Given the description of an element on the screen output the (x, y) to click on. 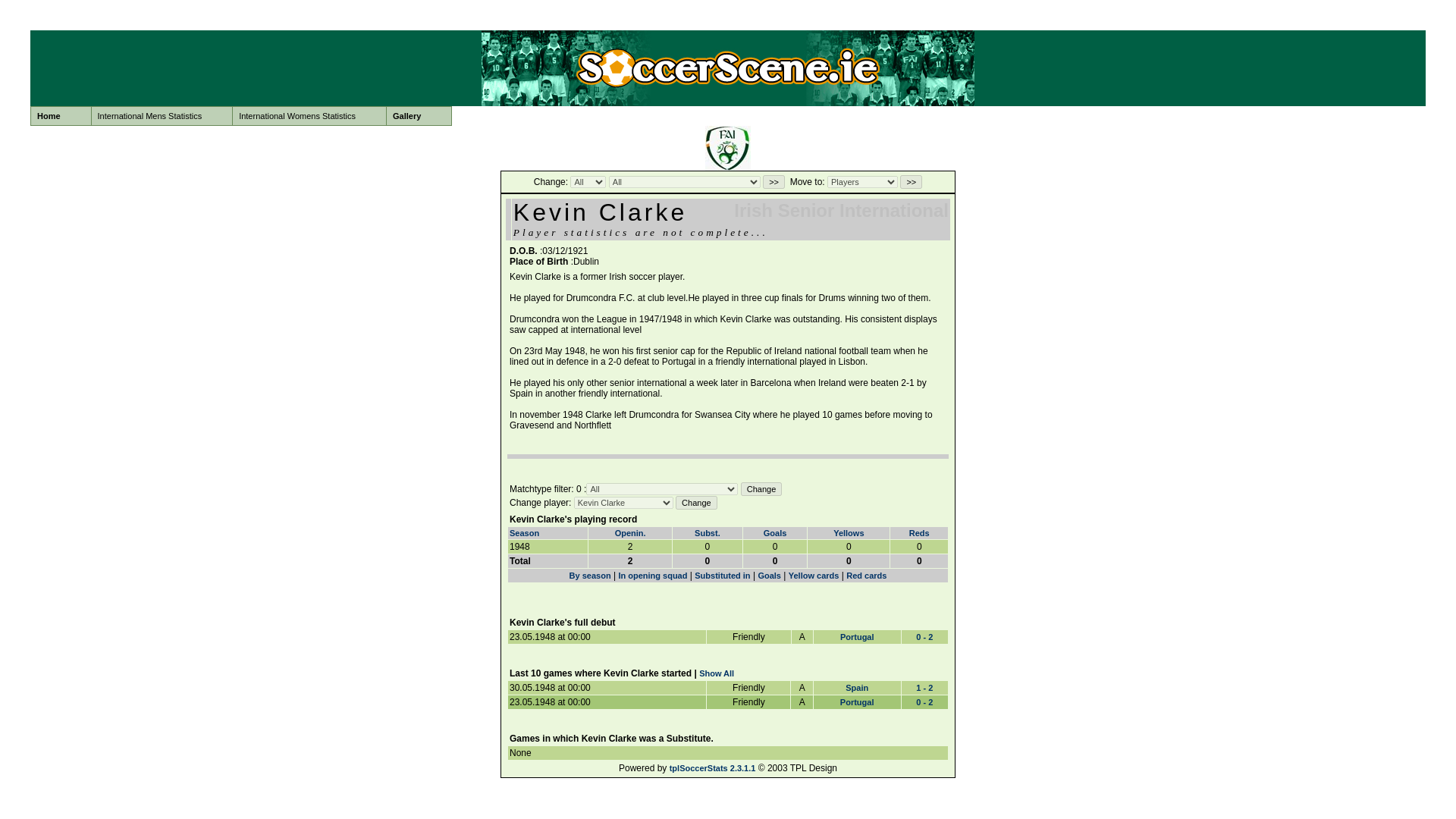
International Womens Statistics (309, 116)
Change (762, 489)
Change (696, 502)
International Mens Statistics (161, 116)
Home (60, 116)
